Given the description of an element on the screen output the (x, y) to click on. 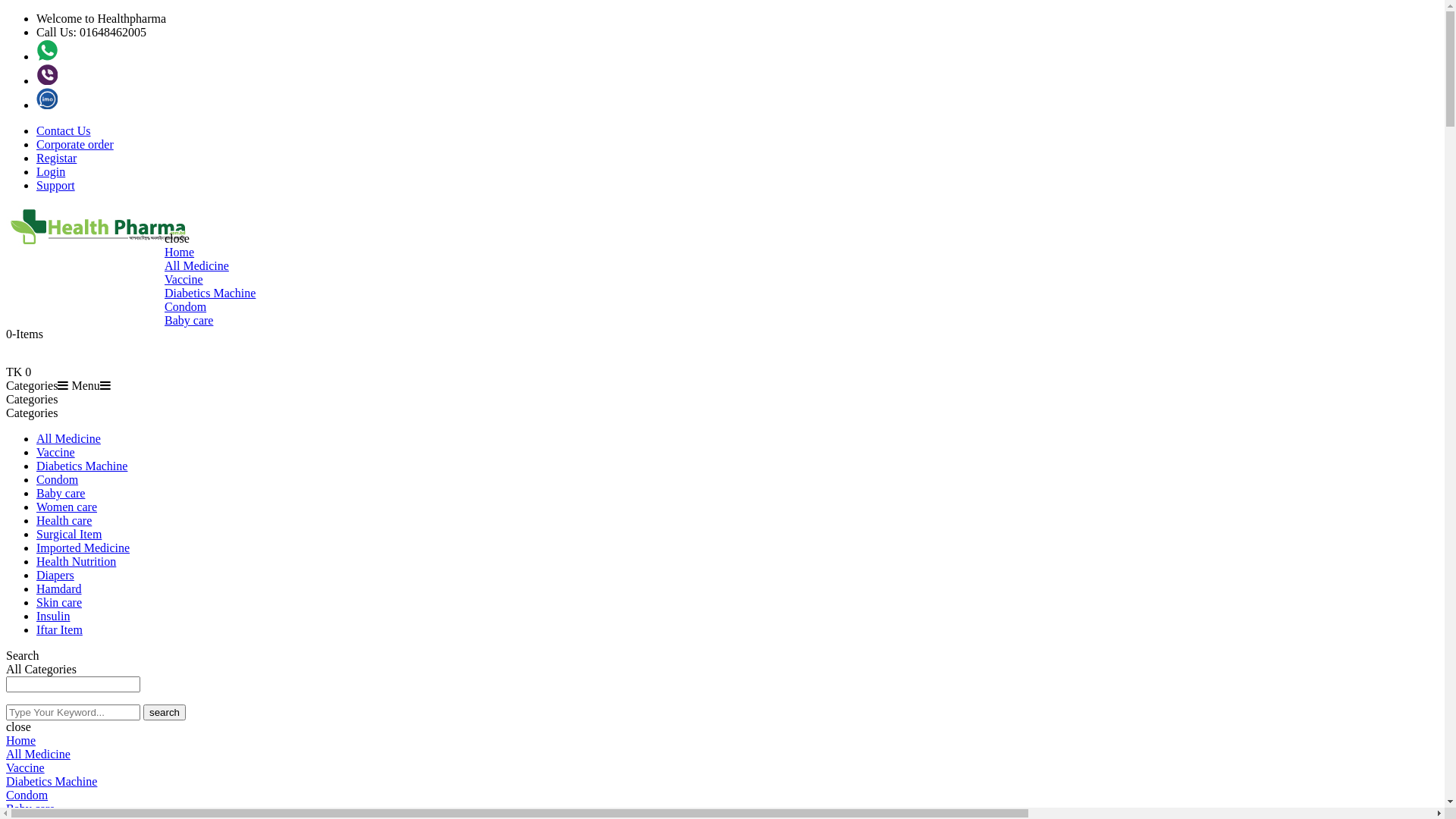
Imported Medicine Element type: text (82, 547)
Vaccine Element type: text (55, 451)
Home Element type: text (179, 251)
Condom Element type: text (57, 479)
Vaccine Element type: text (183, 279)
Login Element type: text (50, 171)
Diabetics Machine Element type: text (51, 781)
Baby care Element type: text (188, 319)
Condom Element type: text (26, 794)
Insulin Element type: text (52, 615)
Hamdard Element type: text (58, 588)
Contact Us Element type: text (63, 130)
All Medicine Element type: text (68, 438)
Registar Element type: text (56, 157)
Baby care Element type: text (30, 808)
Corporate order Element type: text (74, 144)
Surgical Item Element type: text (68, 533)
Vaccine Element type: text (25, 767)
search Element type: text (164, 712)
Diapers Element type: text (55, 574)
Skin care Element type: text (58, 602)
Iftar Item Element type: text (59, 629)
Diabetics Machine Element type: text (209, 292)
Condom Element type: text (185, 306)
Women care Element type: text (66, 506)
Diabetics Machine Element type: text (81, 465)
Baby care Element type: text (60, 492)
All Medicine Element type: text (196, 265)
All Medicine Element type: text (38, 753)
Home Element type: text (20, 740)
All Categories Element type: text (79, 669)
Health Nutrition Element type: text (76, 561)
Health care Element type: text (63, 520)
Support Element type: text (55, 184)
